Given the description of an element on the screen output the (x, y) to click on. 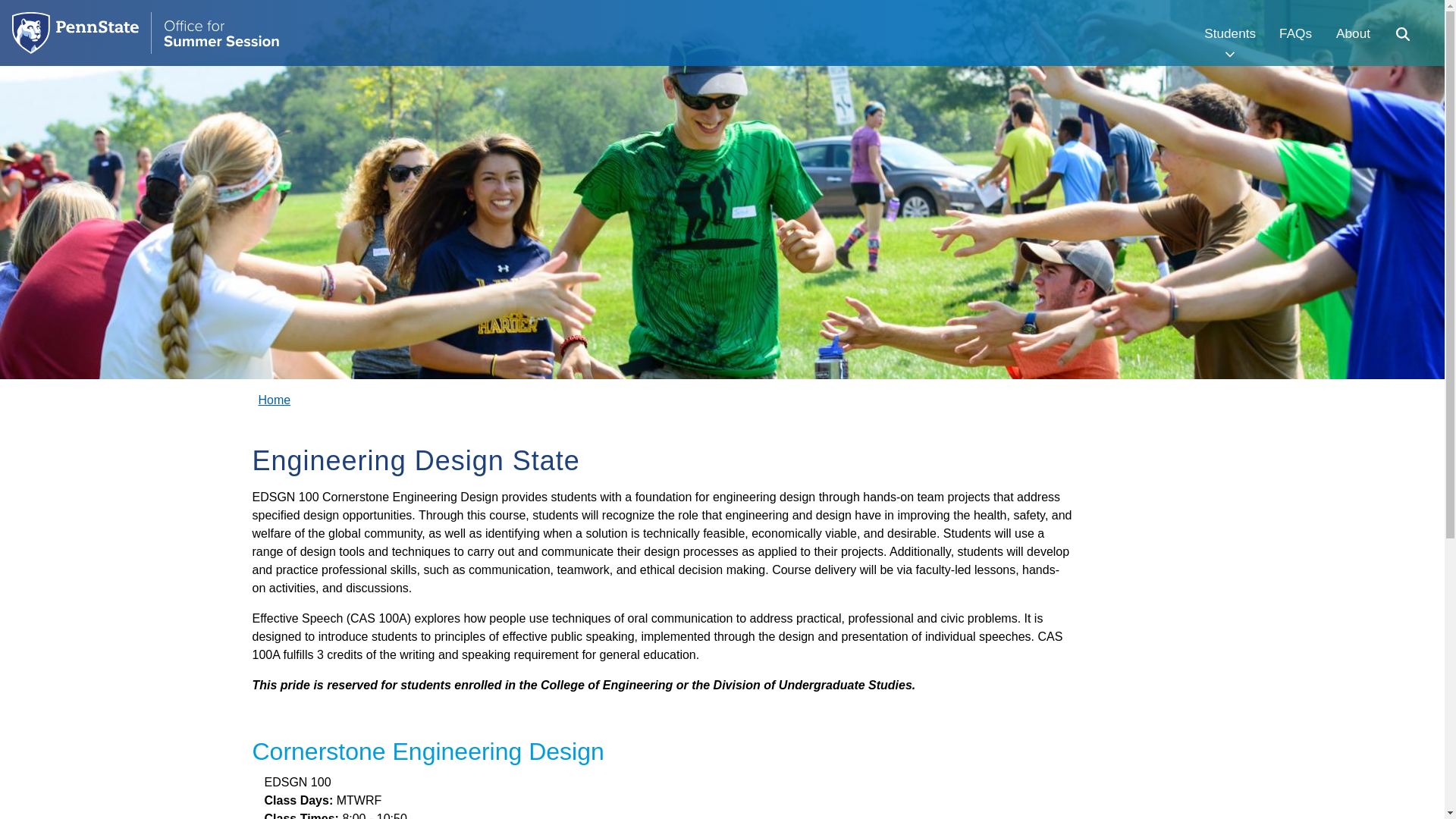
FAQs (1294, 33)
Students (1229, 33)
About (1352, 33)
Home (274, 399)
Search (1401, 33)
Engineering Design State (302, 394)
About the Office (1352, 33)
Search (1401, 33)
